Given the description of an element on the screen output the (x, y) to click on. 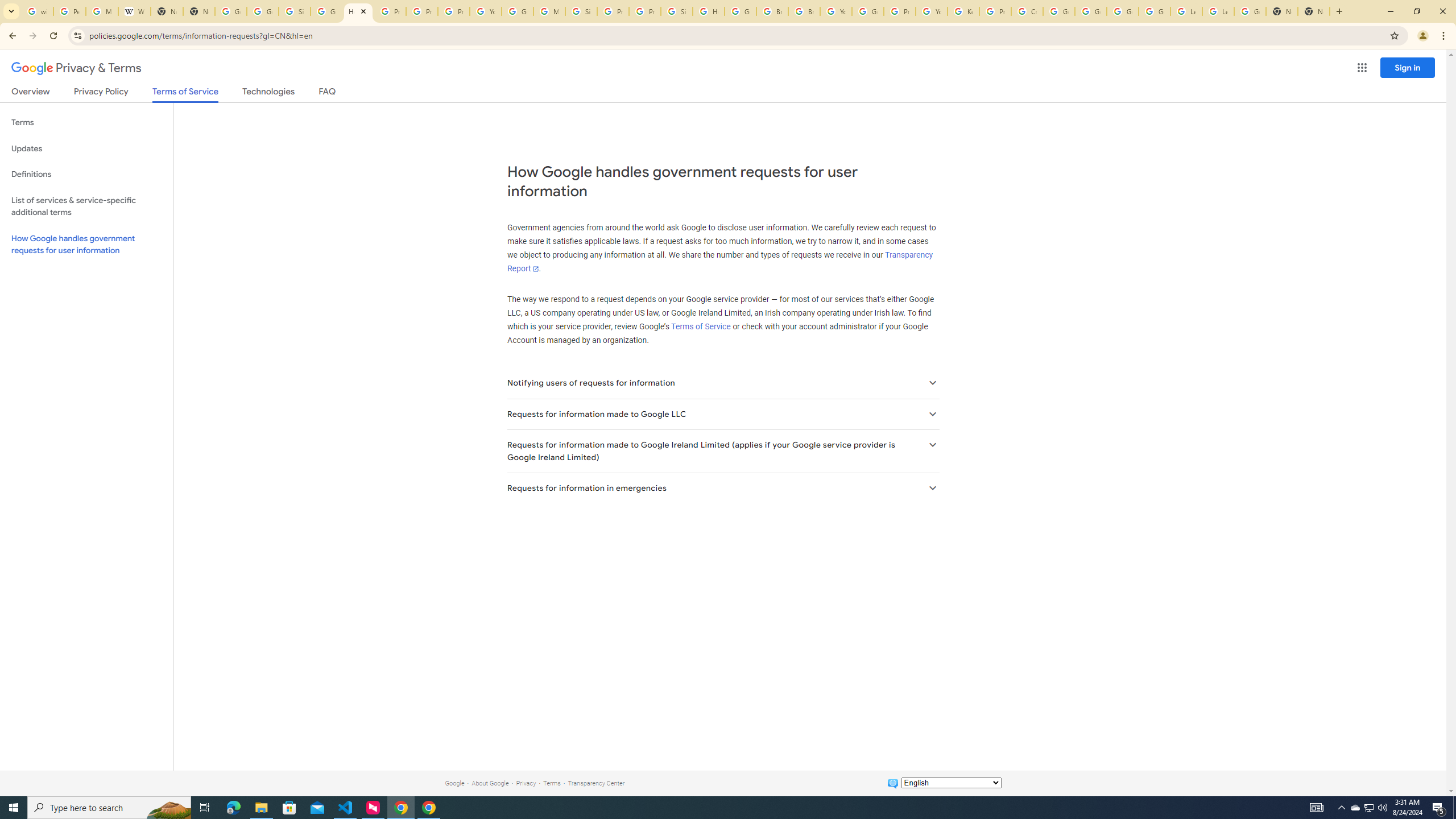
Brand Resource Center (772, 11)
Sign in - Google Accounts (676, 11)
Definitions (86, 174)
